Given the description of an element on the screen output the (x, y) to click on. 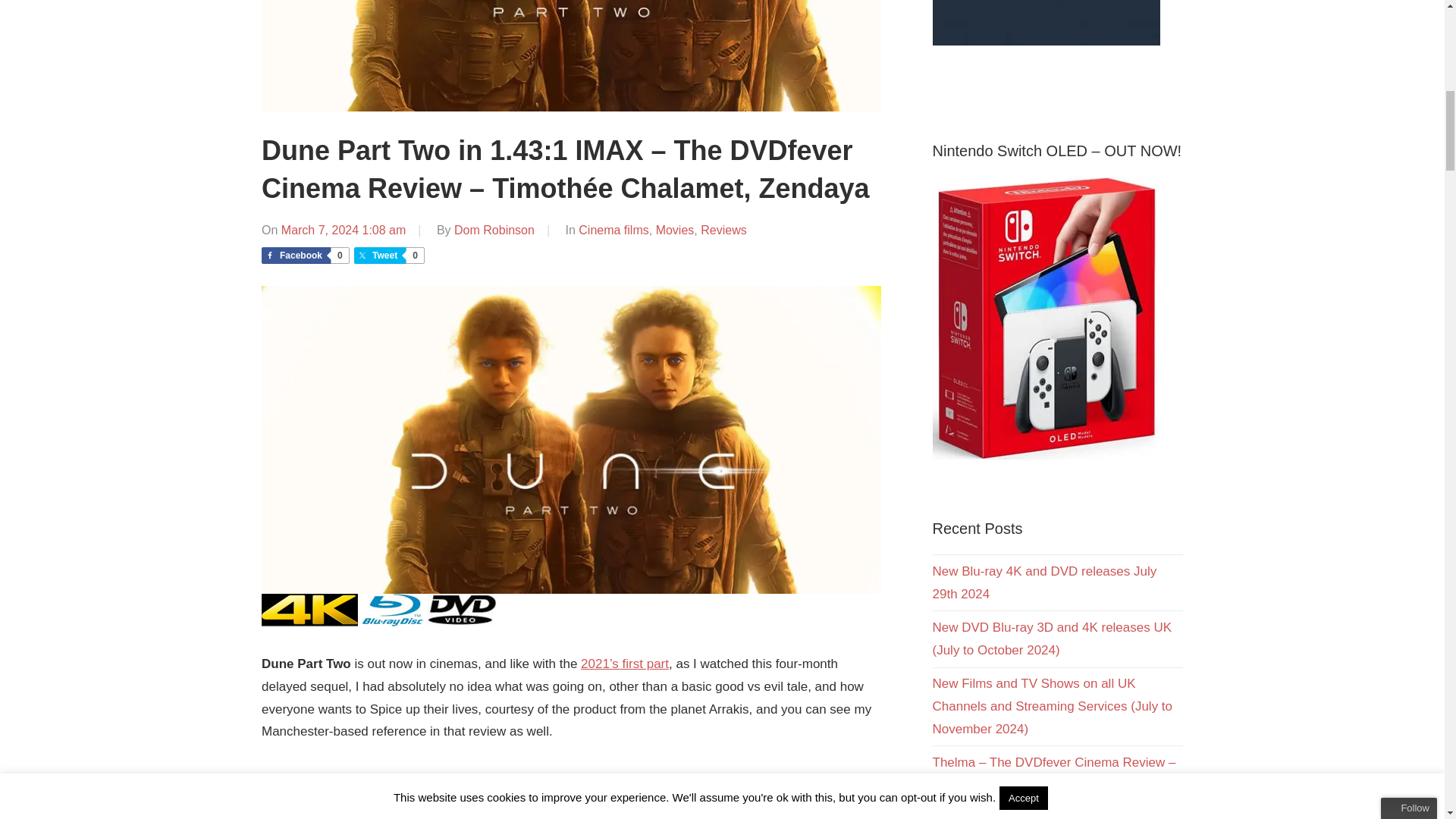
1:08 am (343, 229)
Email Address (1358, 591)
View all posts by Dom Robinson (494, 229)
Share on Twitter (388, 255)
Dom Robinson (494, 229)
March 7, 2024 1:08 am (343, 229)
Share on Facebook (304, 255)
Sign me up! (1347, 623)
